Given the description of an element on the screen output the (x, y) to click on. 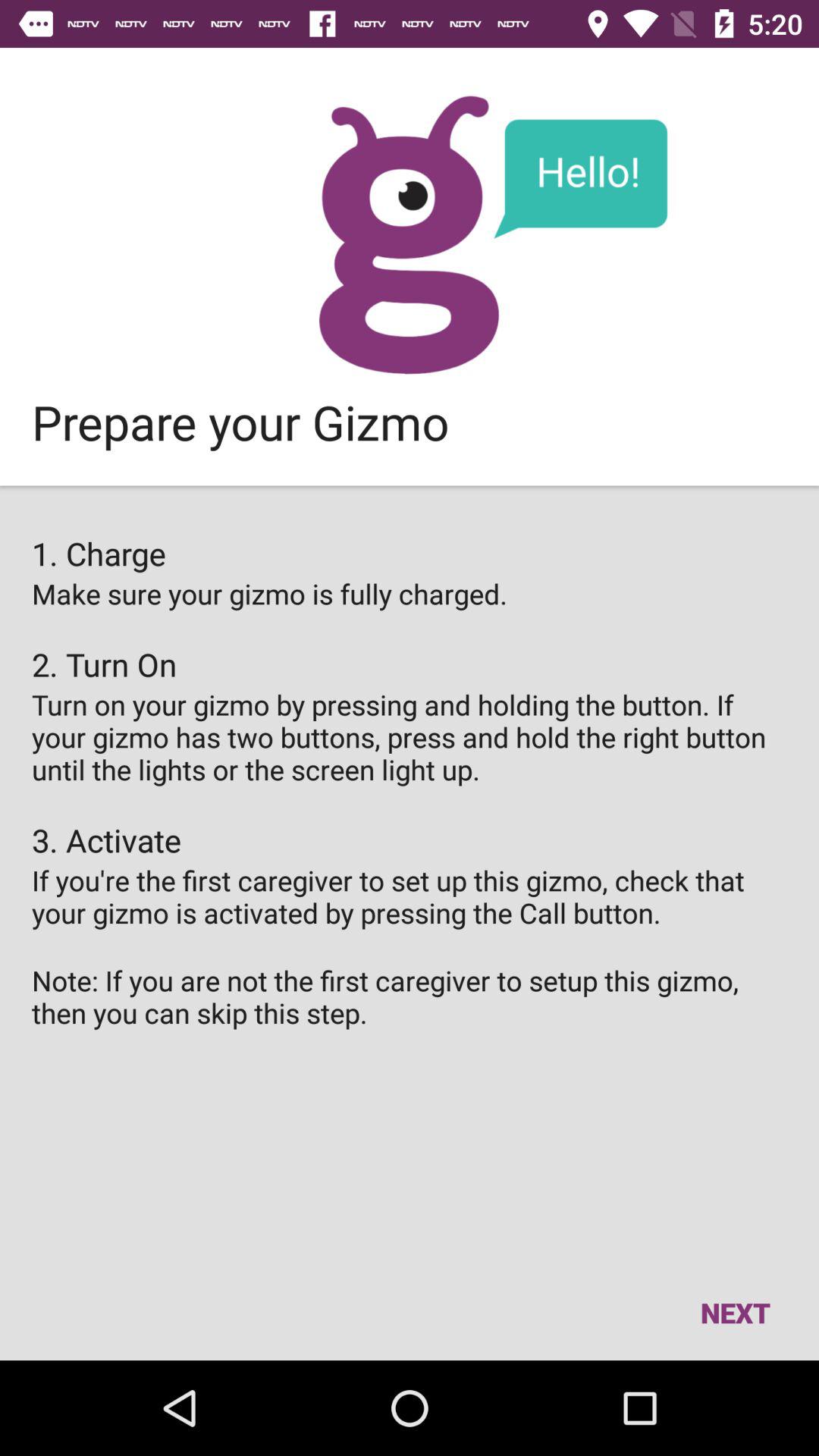
click the next item (735, 1312)
